Given the description of an element on the screen output the (x, y) to click on. 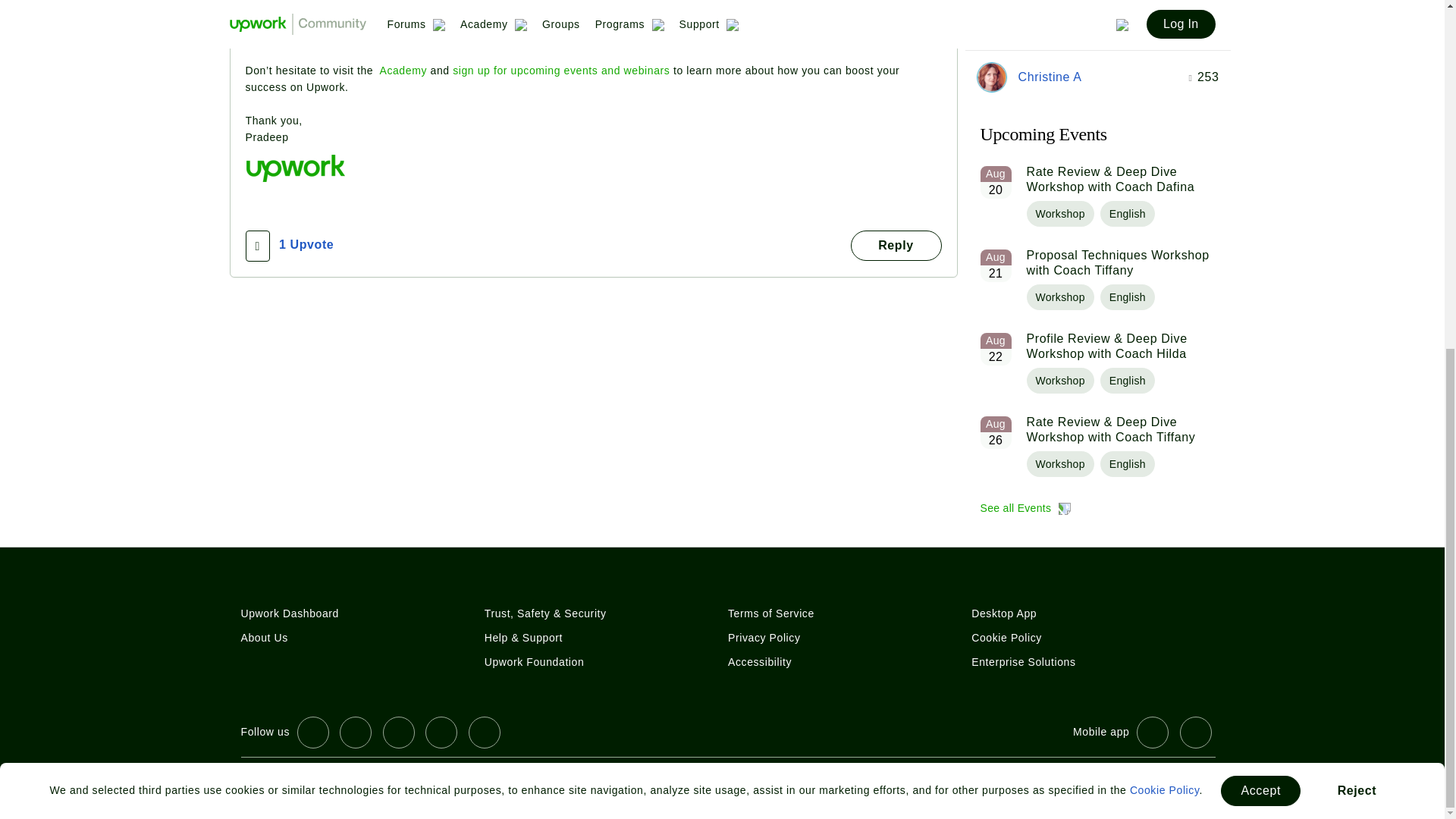
Cookie Policy (1164, 186)
Reject (1356, 187)
Accept (1260, 187)
